Given the description of an element on the screen output the (x, y) to click on. 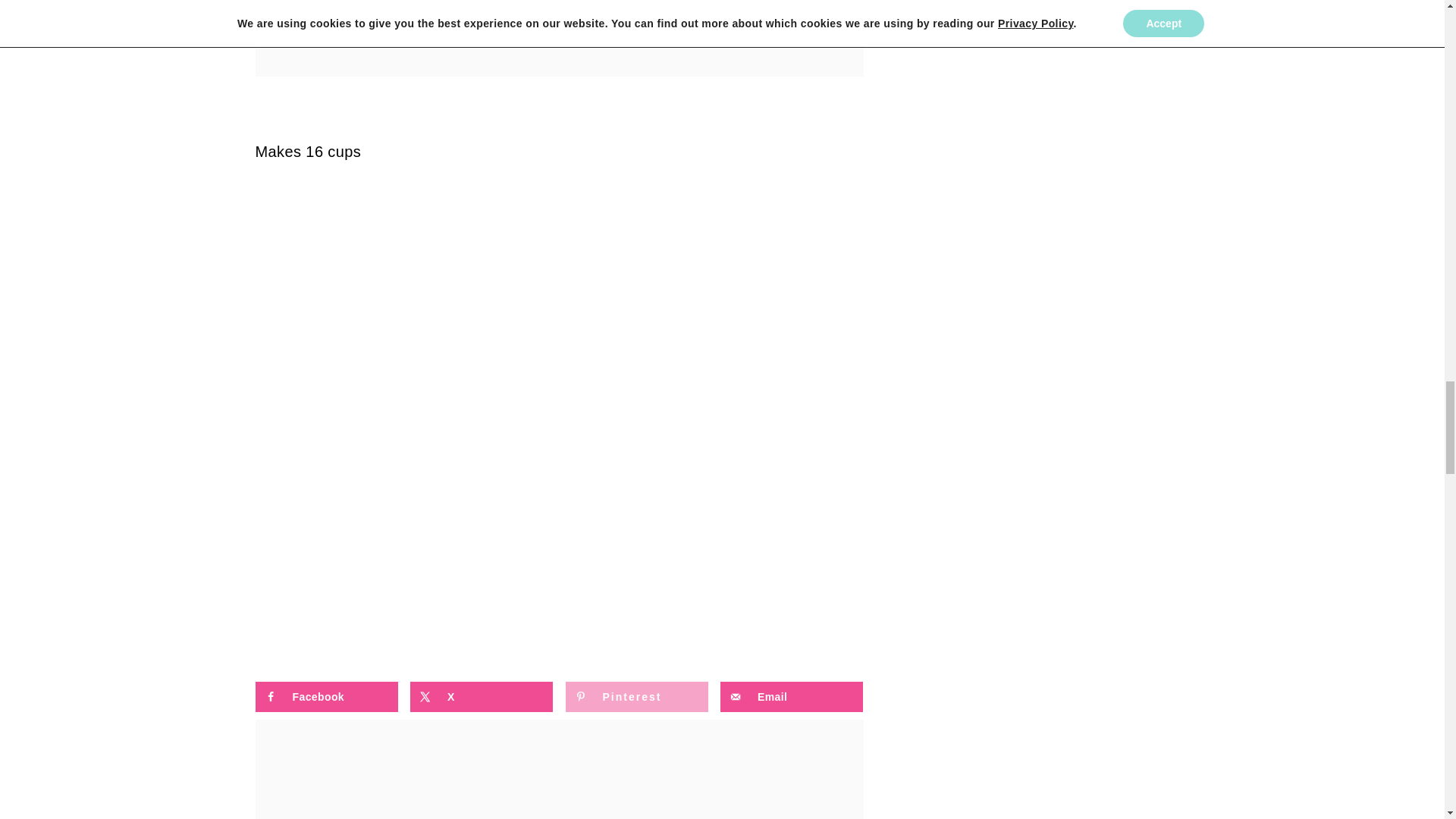
Send over email (791, 696)
Share on X (481, 696)
Share on Facebook (325, 696)
Save to Pinterest (636, 696)
